Given the description of an element on the screen output the (x, y) to click on. 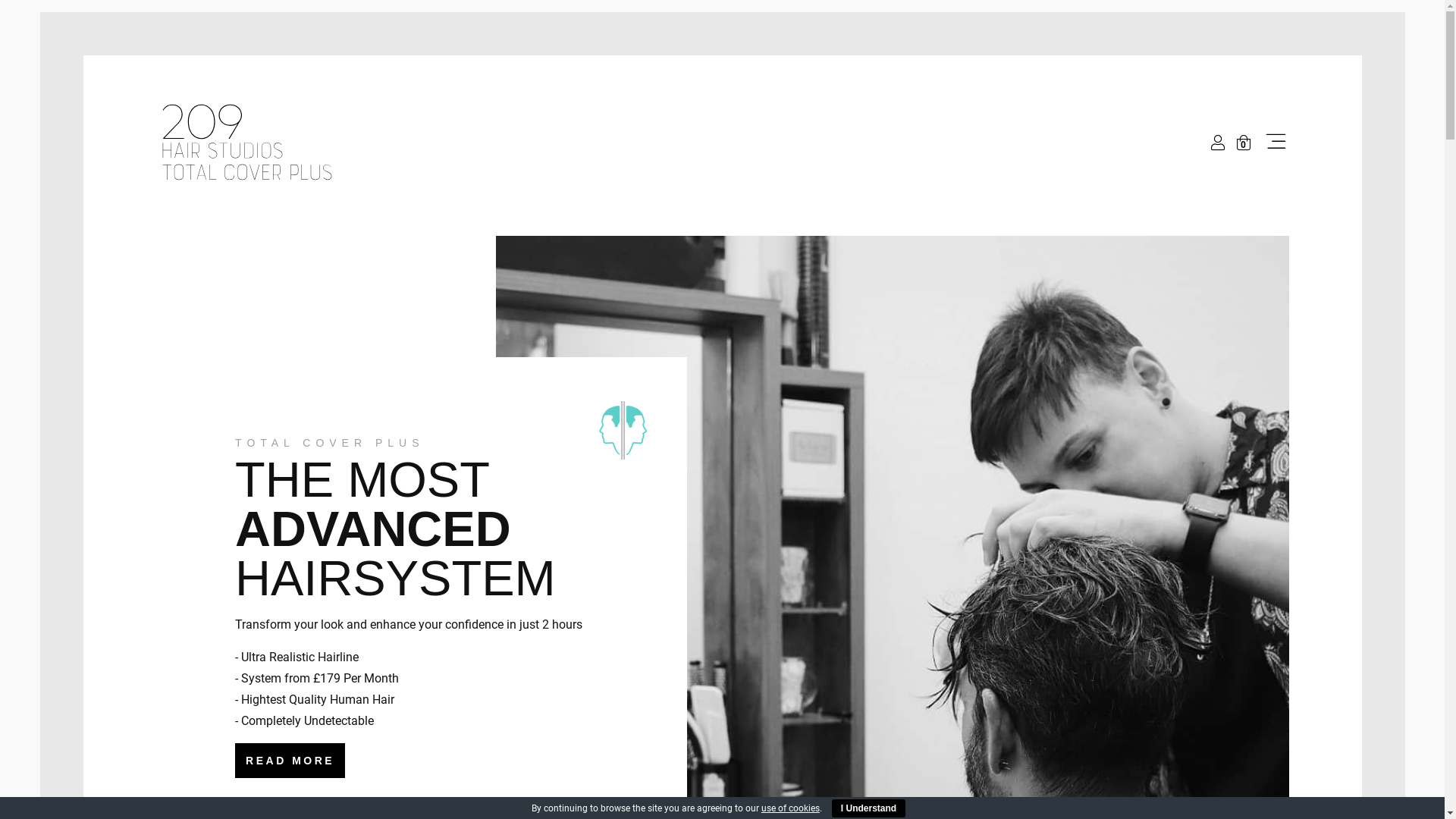
READ MORE Element type: text (290, 760)
use of cookies Element type: text (790, 808)
0 Element type: text (1242, 144)
I Understand Element type: text (868, 808)
